Given the description of an element on the screen output the (x, y) to click on. 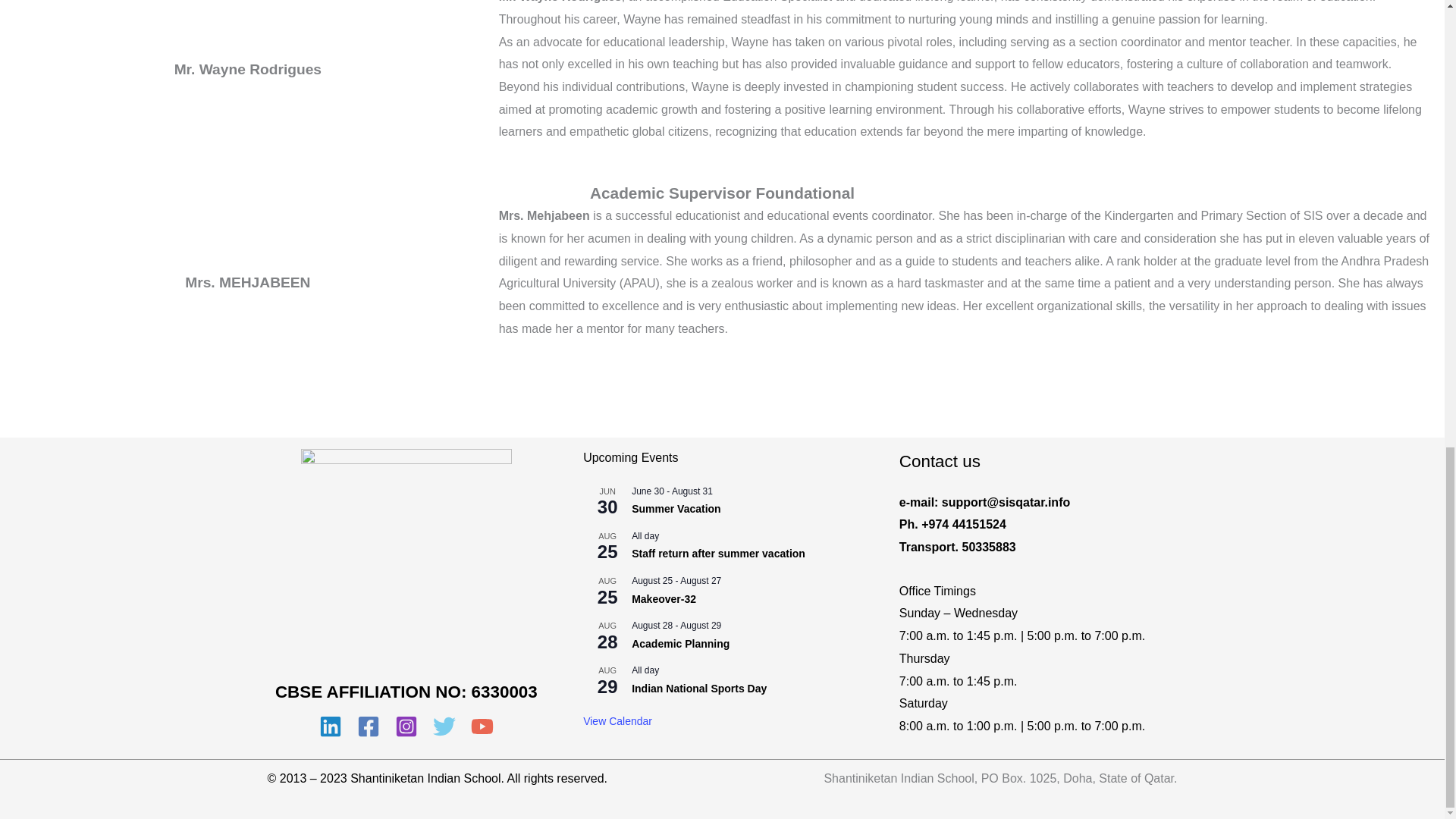
Academic  Planning (680, 644)
Staff return after summer vacation (718, 553)
Makeover-32 (663, 599)
Summer Vacation (675, 508)
Indian National Sports Day (699, 688)
